Given the description of an element on the screen output the (x, y) to click on. 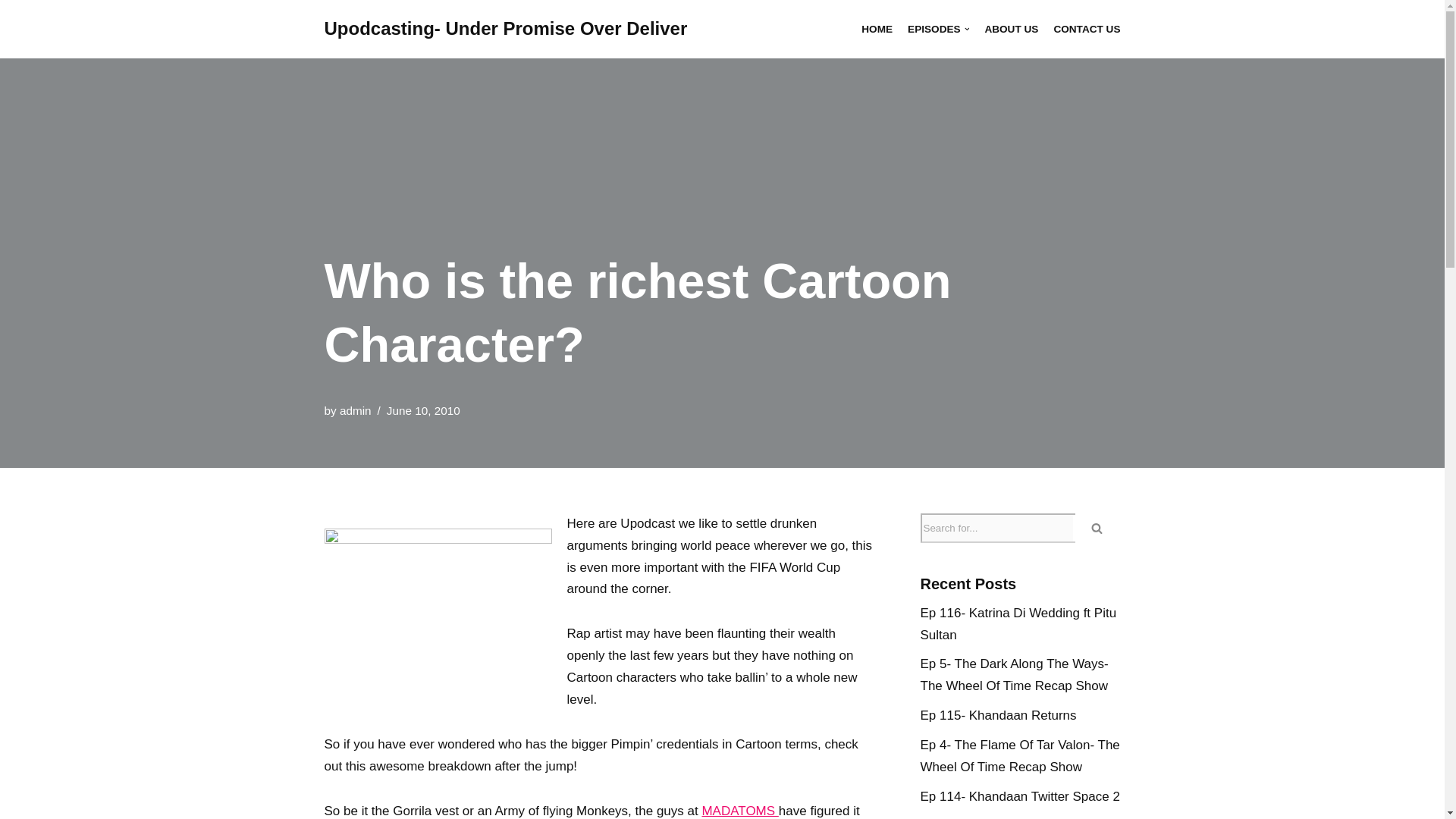
ABOUT US (1011, 28)
Skip to content (11, 31)
Posts by admin (355, 410)
HOME (876, 28)
Upodcasting- Under Promise Over Deliver (505, 29)
CONTACT US (1085, 28)
Upodcasting- Under Promise Over Deliver (505, 29)
MADATOMS (739, 810)
EPISODES (938, 28)
admin (355, 410)
